Given the description of an element on the screen output the (x, y) to click on. 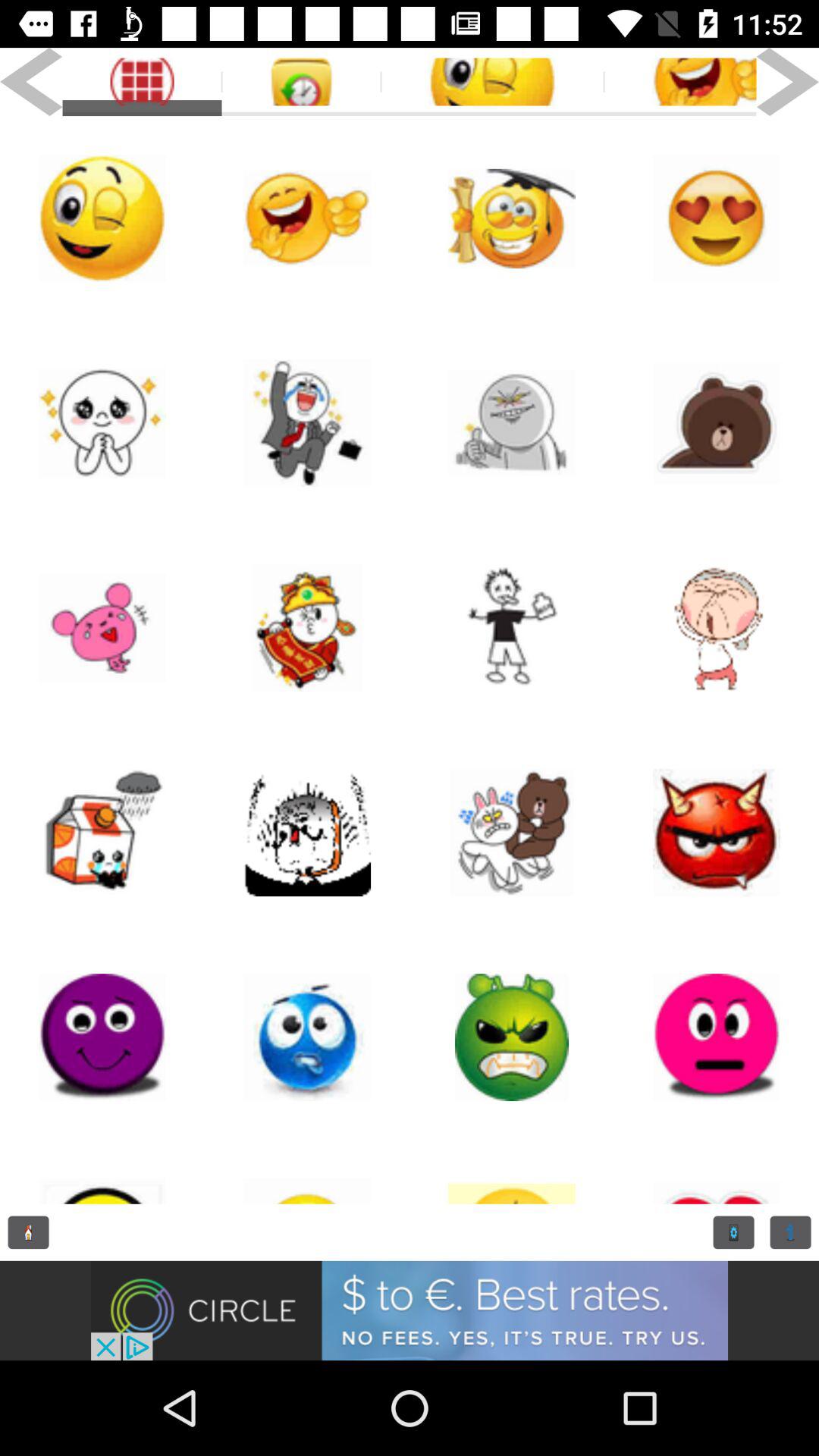
select emoticon (511, 1171)
